Given the description of an element on the screen output the (x, y) to click on. 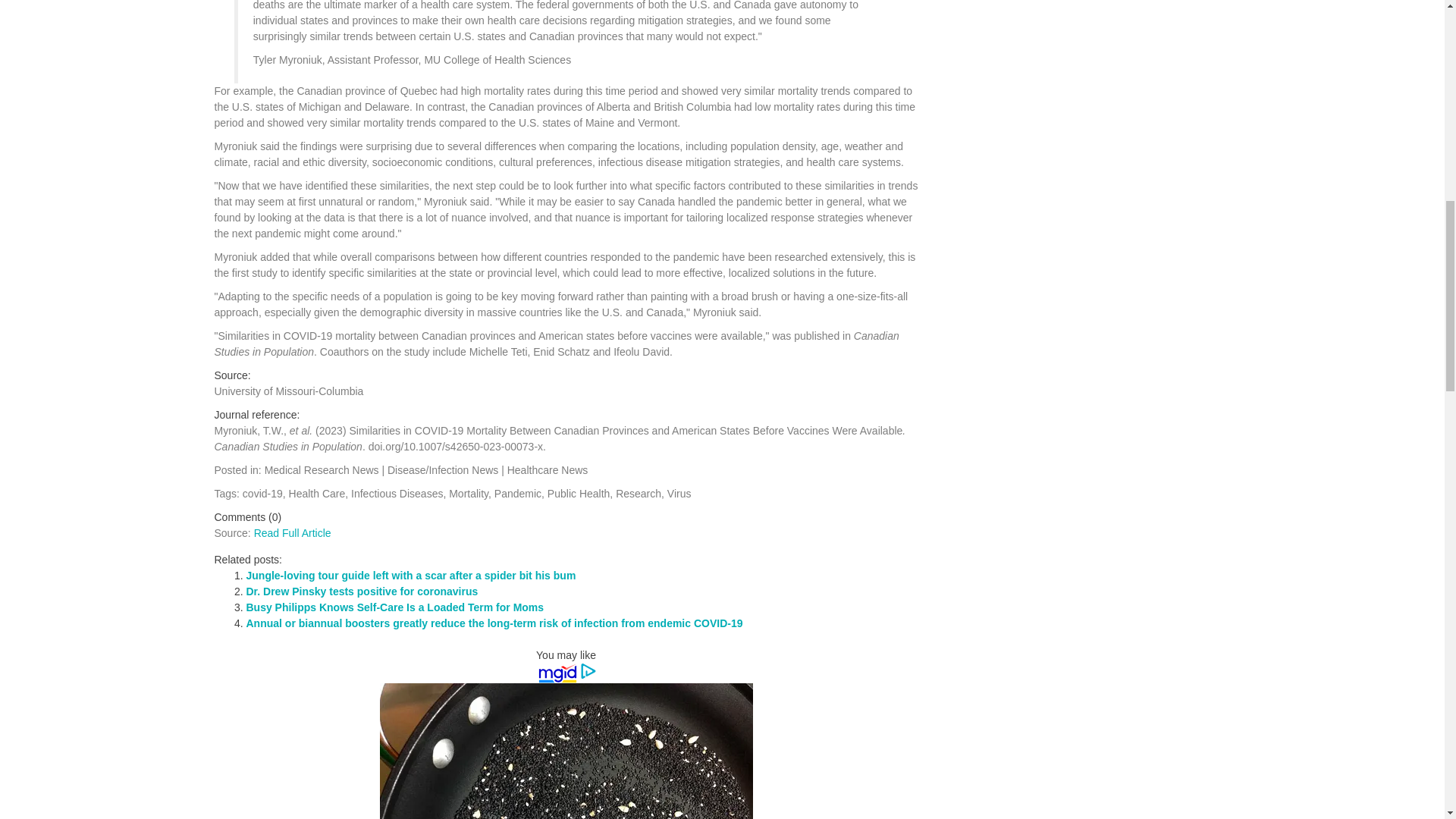
Busy Philipps Knows Self-Care Is a Loaded Term for Moms (394, 607)
Dr. Drew Pinsky tests positive for coronavirus (361, 591)
Read Full Article (292, 532)
Dr. Drew Pinsky tests positive for coronavirus (361, 591)
Busy Philipps Knows Self-Care Is a Loaded Term for Moms (394, 607)
